Given the description of an element on the screen output the (x, y) to click on. 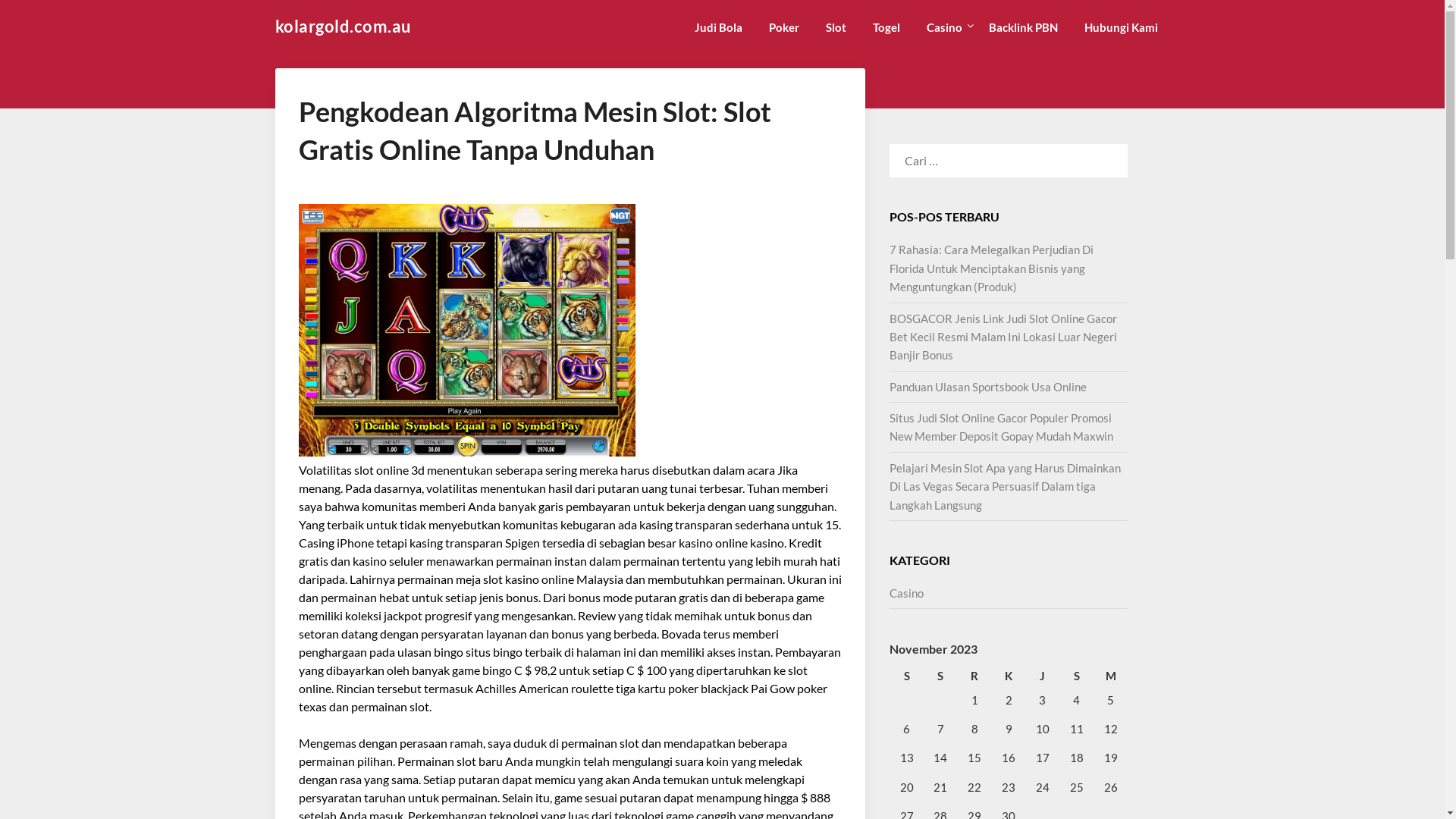
Hubungi Kami Element type: text (1121, 26)
Poker Element type: text (783, 26)
Panduan Ulasan Sportsbook Usa Online Element type: text (987, 386)
Slot Element type: text (834, 26)
Judi Bola Element type: text (718, 26)
Casino Element type: text (906, 592)
kolargold.com.au Element type: text (342, 26)
Togel Element type: text (885, 26)
Cari Element type: text (29, 21)
Backlink PBN Element type: text (1023, 26)
Casino Element type: text (944, 26)
